Given the description of an element on the screen output the (x, y) to click on. 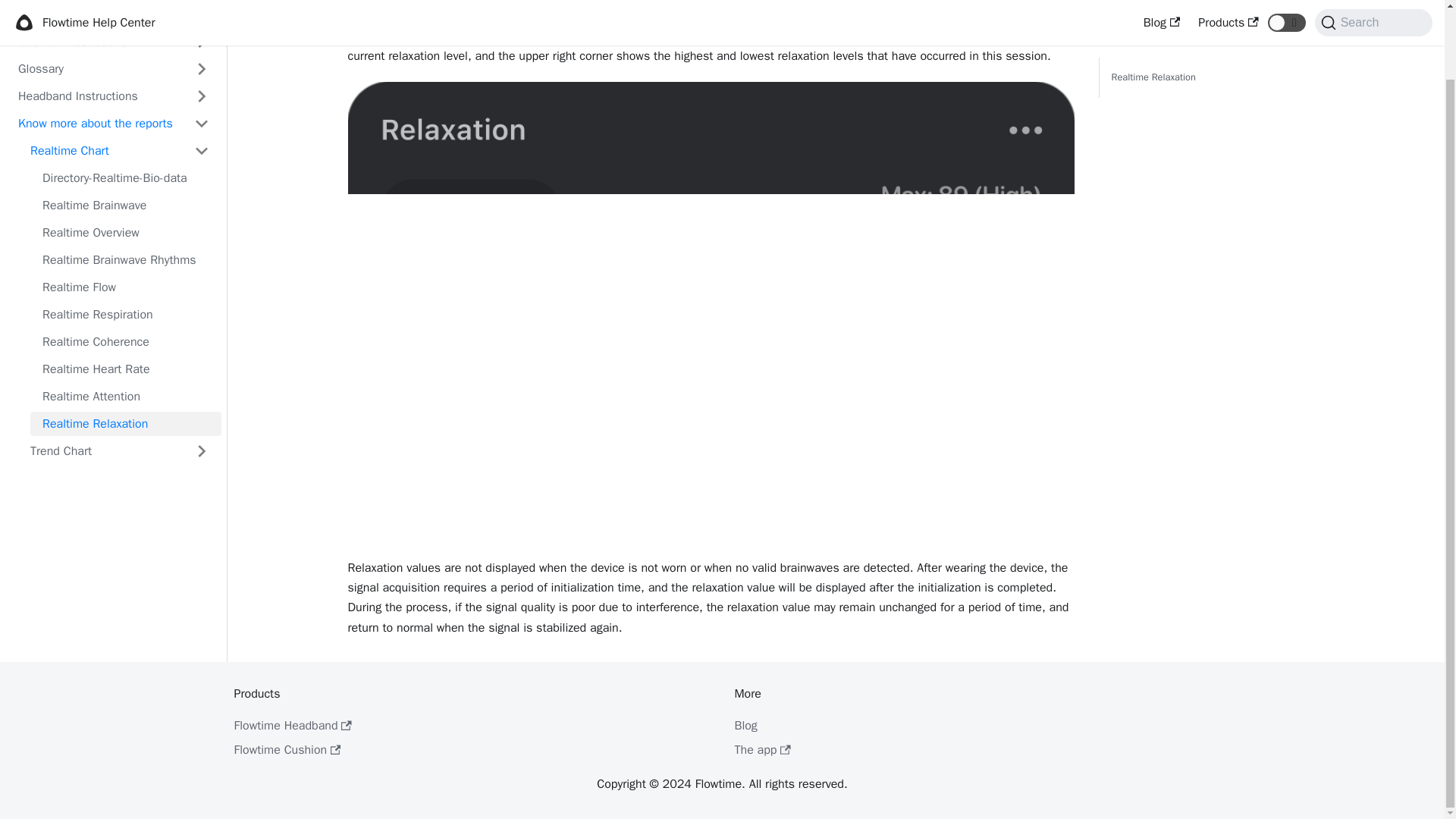
Blog (745, 725)
Realtime Brainwave (125, 205)
App Instructions (113, 14)
Flowtime Headband (291, 725)
Realtime Coherence (125, 341)
Realtime Overview (125, 232)
Realtime Brainwave Rhythms (125, 259)
Realtime Respiration (125, 314)
Know more about the reports (113, 123)
Directory-Realtime-Bio-data (125, 178)
